Given the description of an element on the screen output the (x, y) to click on. 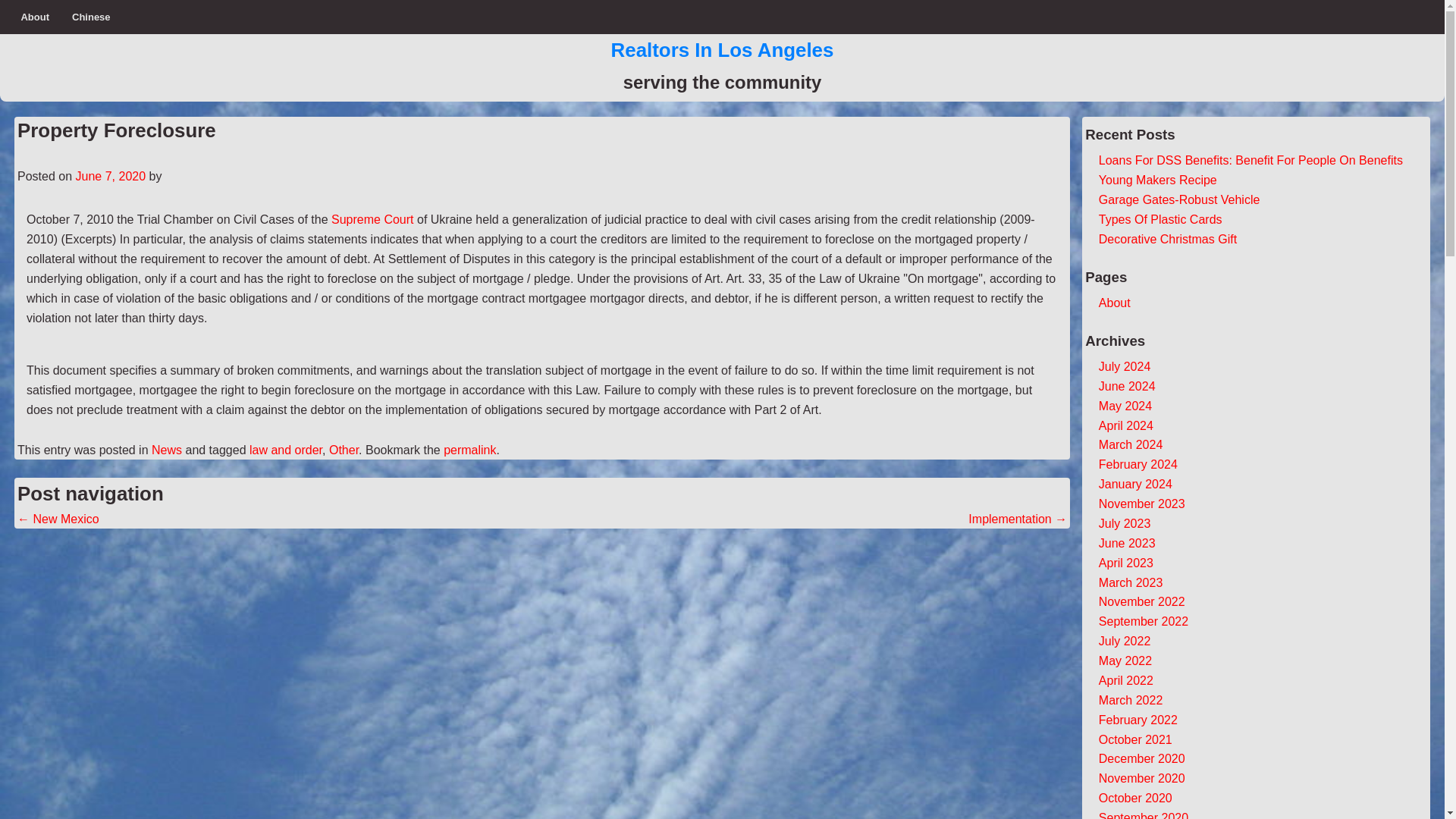
February 2022 (1138, 719)
About (34, 17)
Realtors In Los Angeles (722, 49)
June 7, 2020 (111, 175)
Types Of Plastic Cards (1161, 219)
January 2024 (1135, 483)
Other (343, 449)
Permalink to Property Foreclosure (470, 449)
Supreme Court (372, 219)
March 2023 (1131, 582)
November 2023 (1142, 503)
February 2024 (1138, 463)
March 2022 (1131, 699)
September 2022 (1143, 621)
News (166, 449)
